Given the description of an element on the screen output the (x, y) to click on. 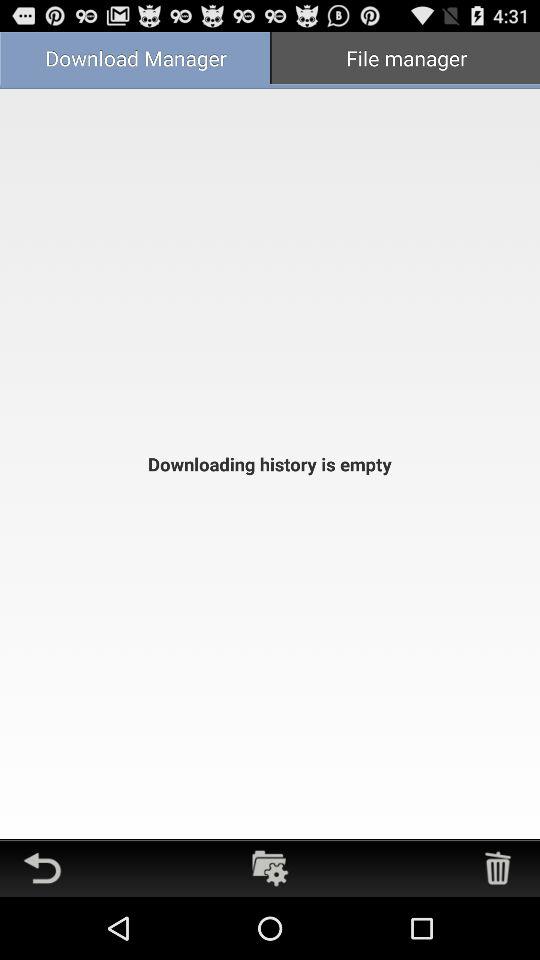
edit folder settings (269, 868)
